Given the description of an element on the screen output the (x, y) to click on. 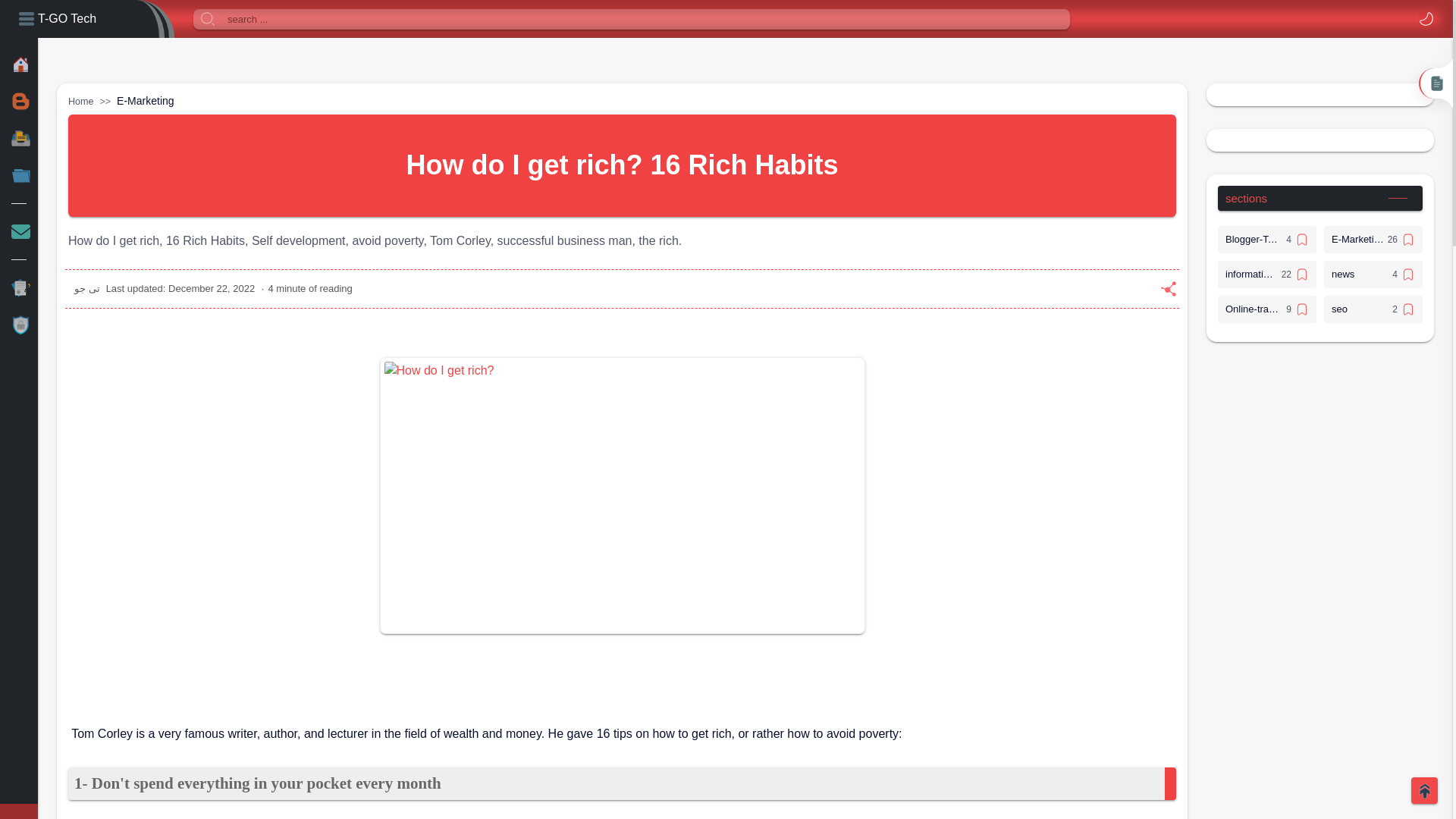
Home (81, 101)
E-Marketing (144, 101)
Last updated: December 22, 2022 (181, 288)
T-GO Tech (66, 18)
